Given the description of an element on the screen output the (x, y) to click on. 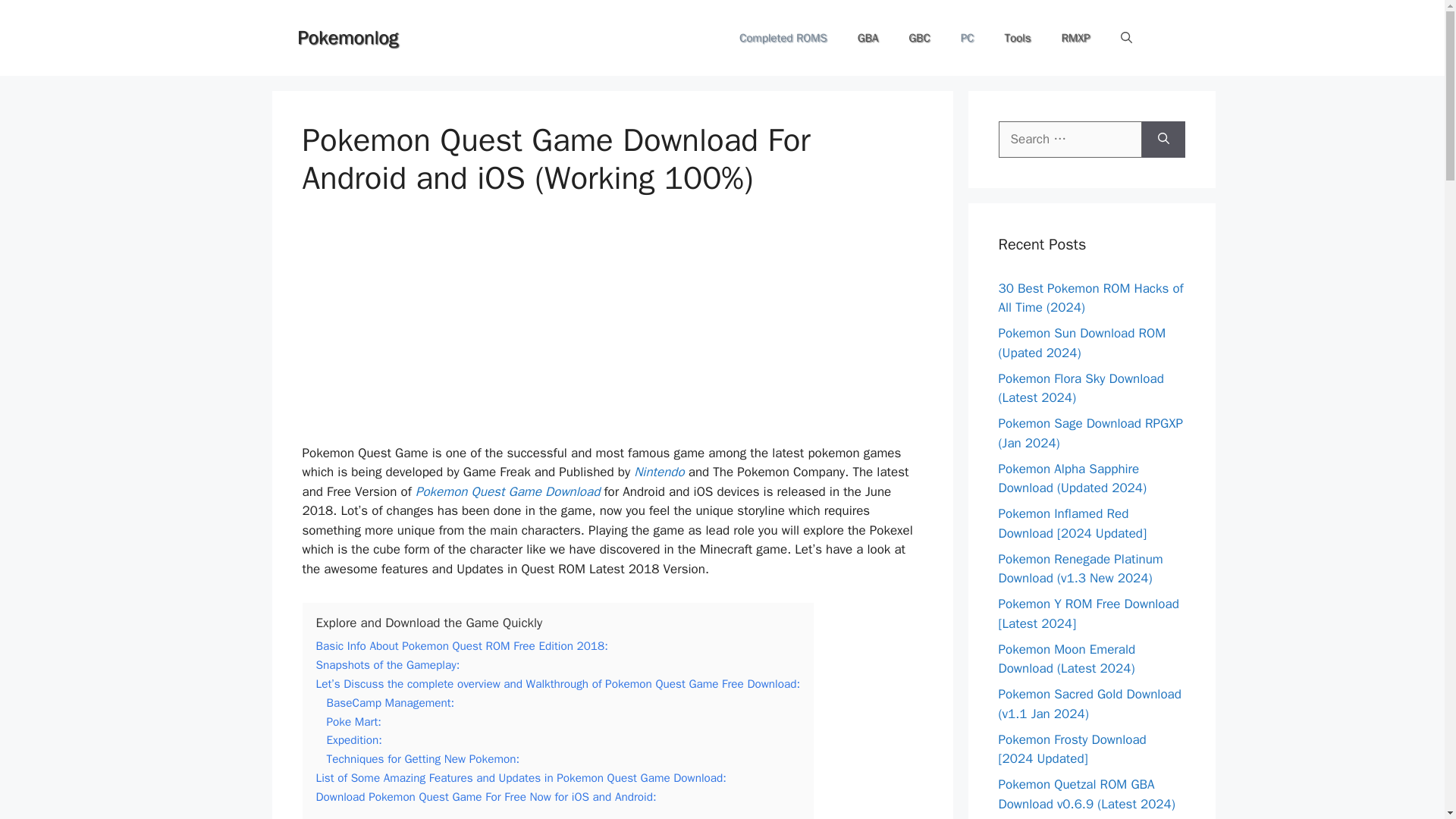
Expedition: (353, 739)
RMXP (1075, 37)
Poke Mart: (353, 721)
BaseCamp Management: (390, 702)
Completed ROMS (783, 37)
PC (967, 37)
Snapshots of the Gameplay: (387, 664)
GBC (918, 37)
